Given the description of an element on the screen output the (x, y) to click on. 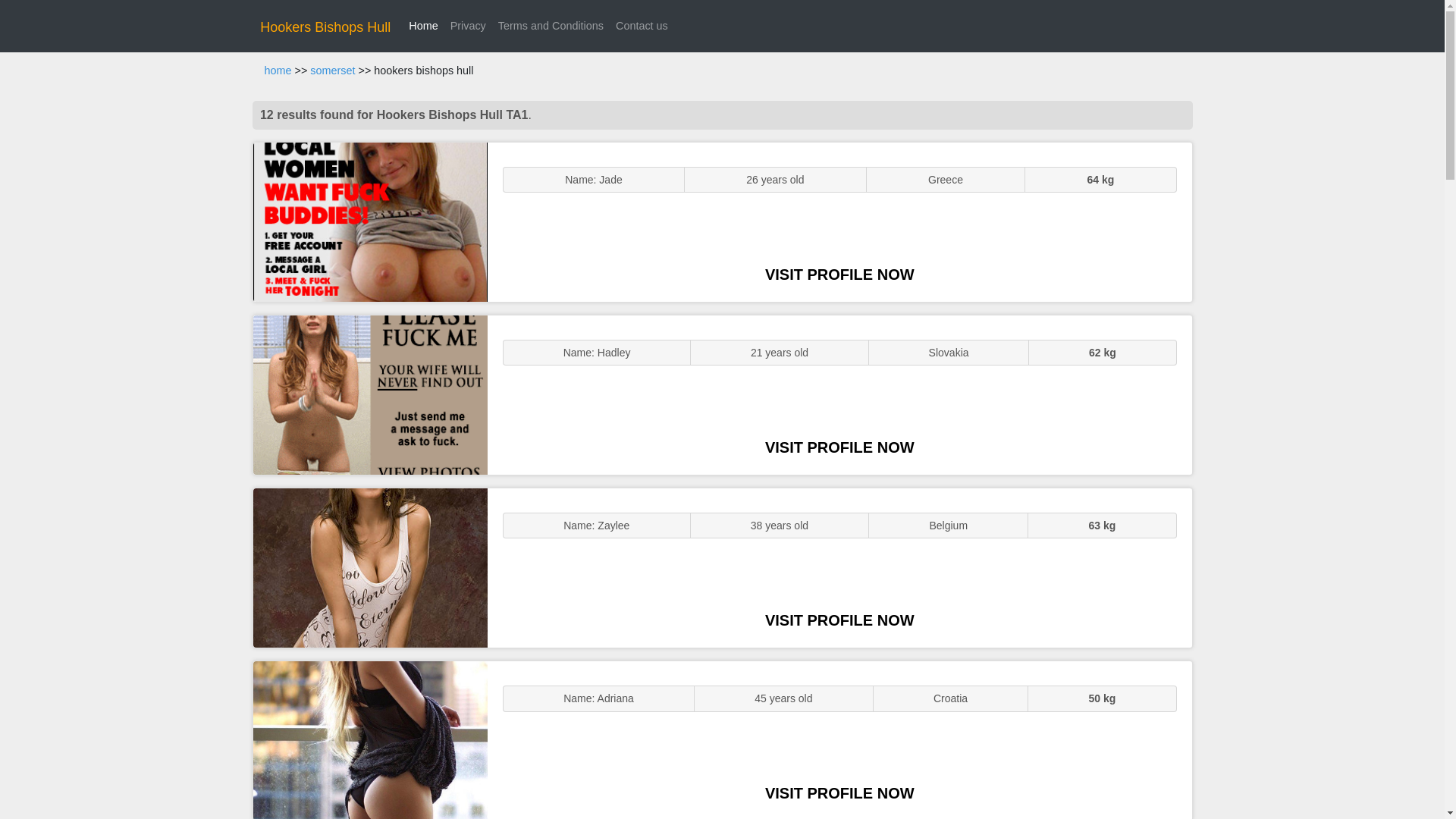
Terms and Conditions (551, 25)
VISIT PROFILE NOW (839, 446)
Sluts (370, 739)
VISIT PROFILE NOW (839, 619)
VISIT PROFILE NOW (839, 274)
Sexy (370, 567)
home (277, 70)
somerset (332, 70)
Contact us (642, 25)
 ENGLISH STUNNER (370, 222)
